Given the description of an element on the screen output the (x, y) to click on. 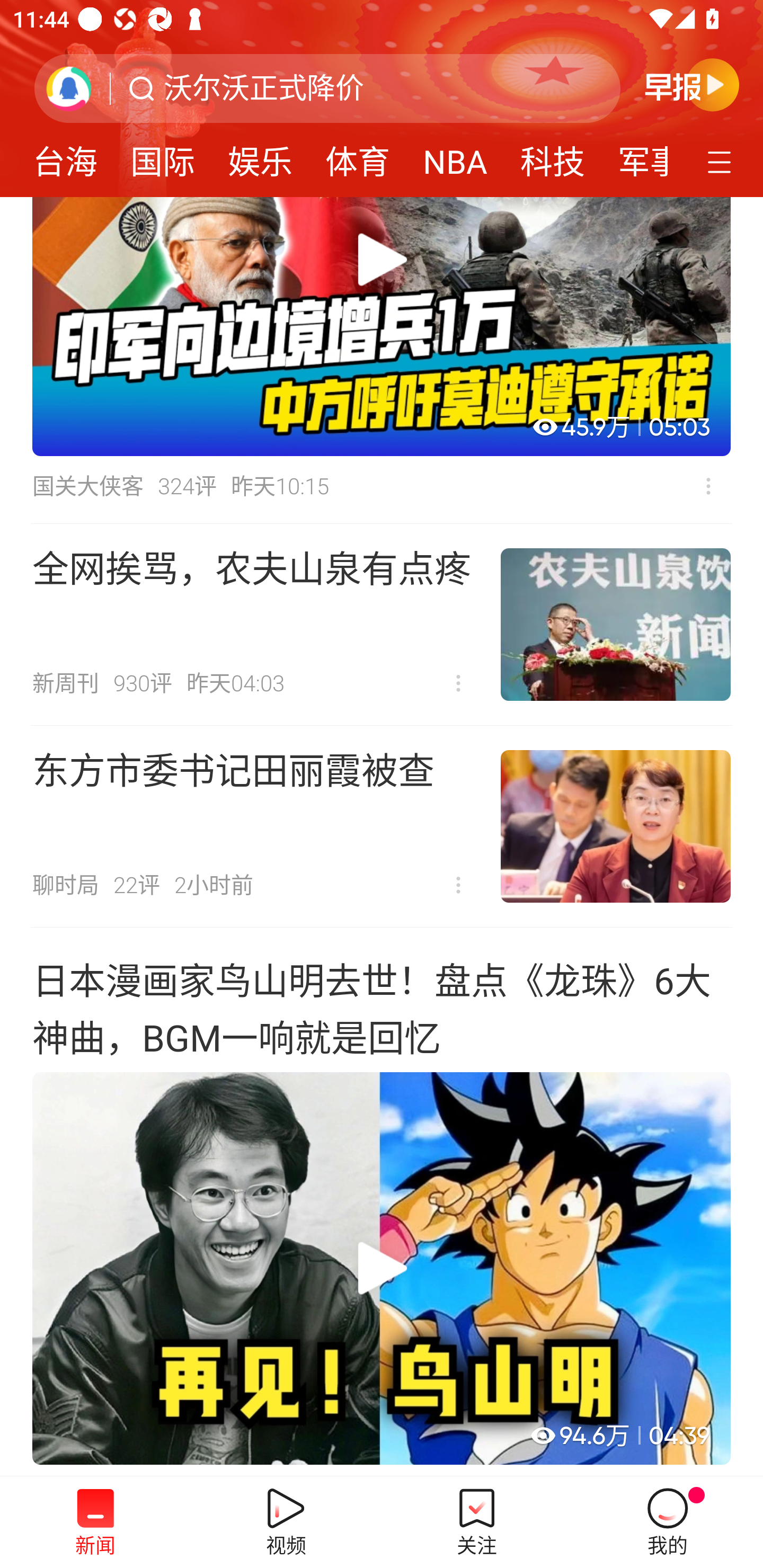
早晚报 (691, 84)
刷新 (68, 88)
沃尔沃正式降价 (263, 88)
台海 (64, 155)
国际 (162, 155)
娱乐 (260, 155)
体育 (357, 155)
NBA (454, 155)
科技 (552, 155)
 定制频道 (721, 160)
 45.9万 05:03 国关大侠客 324评 昨天10:15  不感兴趣 (381, 360)
 不感兴趣 (707, 486)
全网挨骂，农夫山泉有点疼 新周刊 930评 昨天04:03  不感兴趣 (381, 623)
 不感兴趣 (458, 683)
东方市委书记田丽霞被查 聊时局 22评 2小时前  不感兴趣 (381, 825)
 不感兴趣 (458, 884)
